Given the description of an element on the screen output the (x, y) to click on. 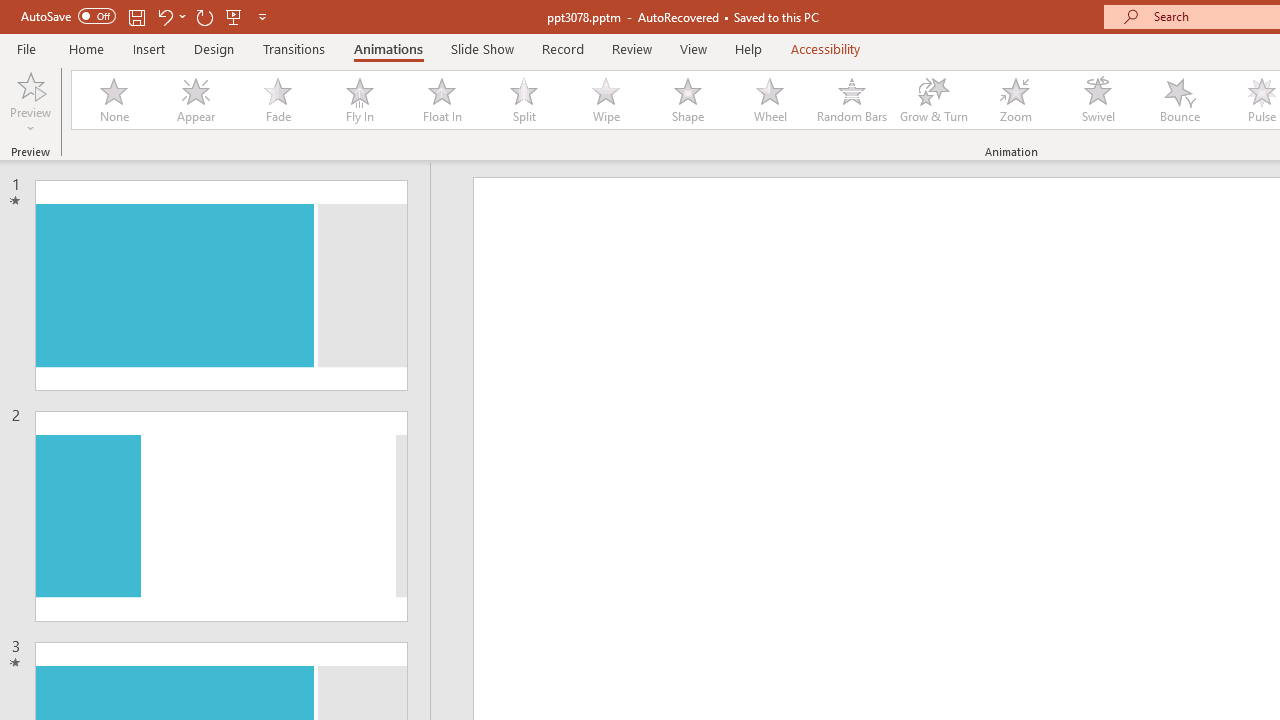
Wheel (770, 100)
Grow & Turn (934, 100)
Appear (195, 100)
